Given the description of an element on the screen output the (x, y) to click on. 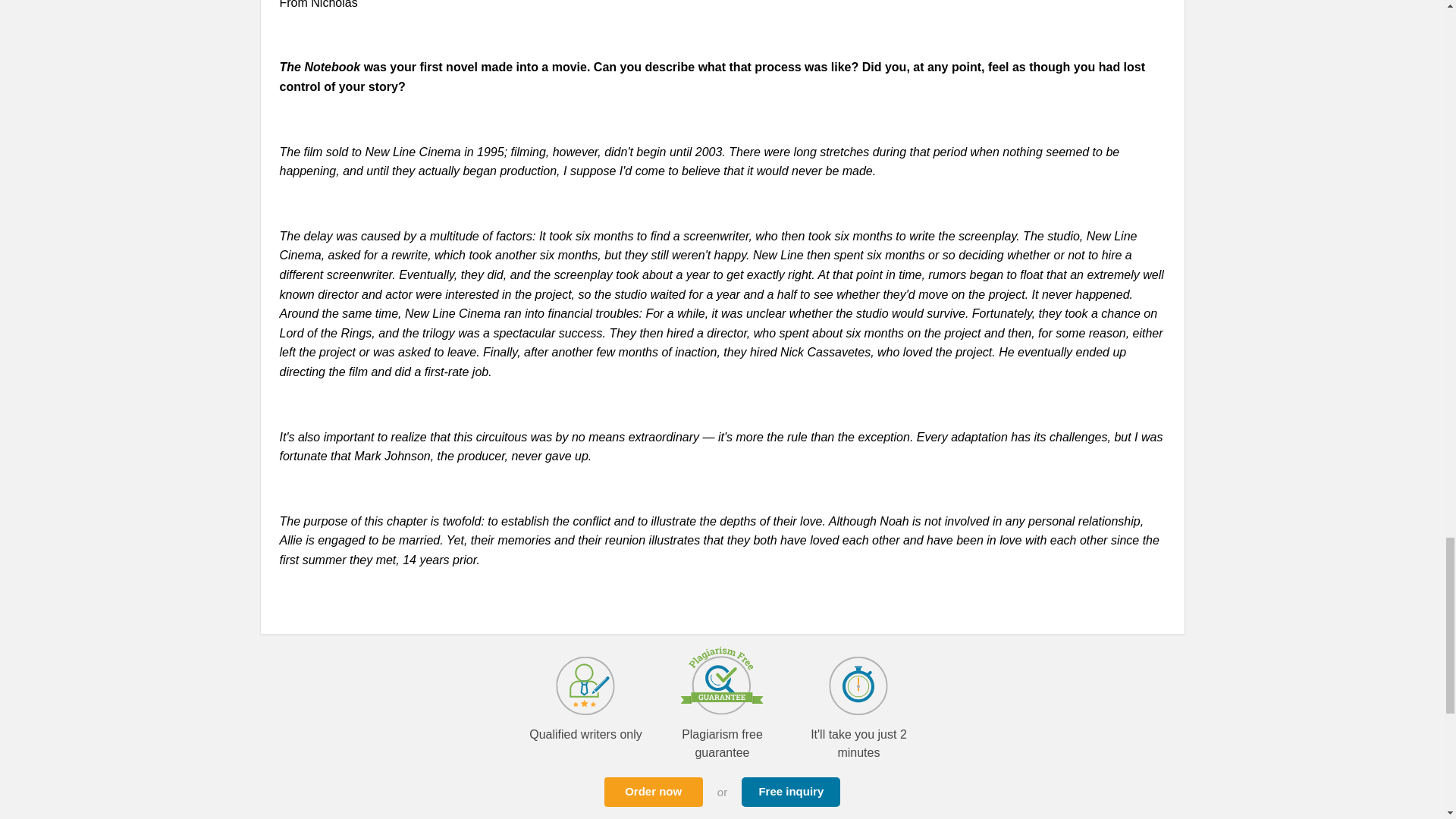
Free inquiry (790, 791)
Order now (653, 791)
